Given the description of an element on the screen output the (x, y) to click on. 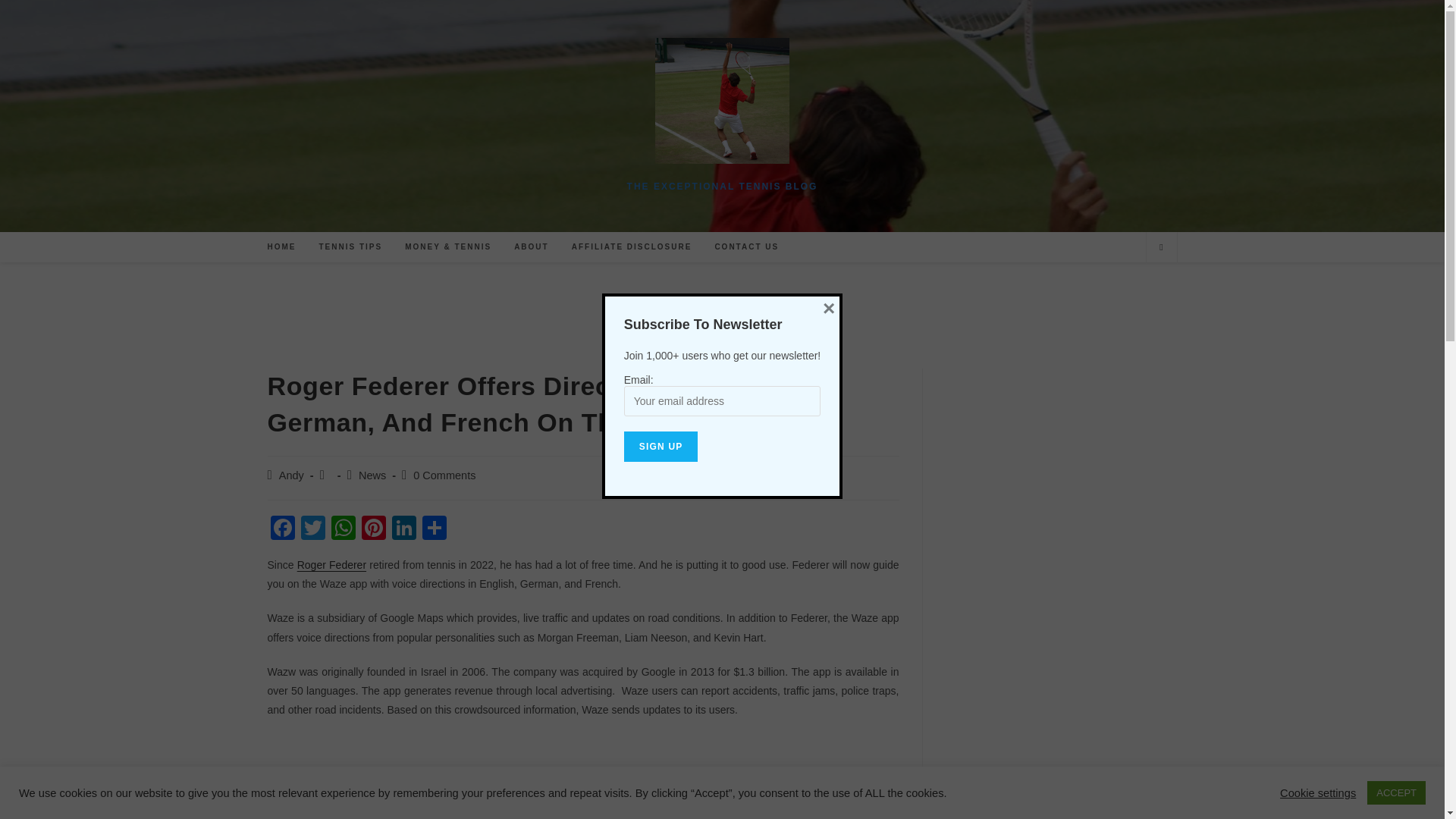
LinkedIn (403, 529)
WhatsApp (342, 529)
Andy (291, 475)
Pinterest (373, 529)
HOME (281, 246)
CONTACT US (746, 246)
Sign up (661, 446)
Roger Federer (331, 564)
TENNIS TIPS (350, 246)
LinkedIn (403, 529)
ABOUT (531, 246)
Share (433, 529)
Twitter (312, 529)
Facebook (281, 529)
AFFILIATE DISCLOSURE (631, 246)
